Given the description of an element on the screen output the (x, y) to click on. 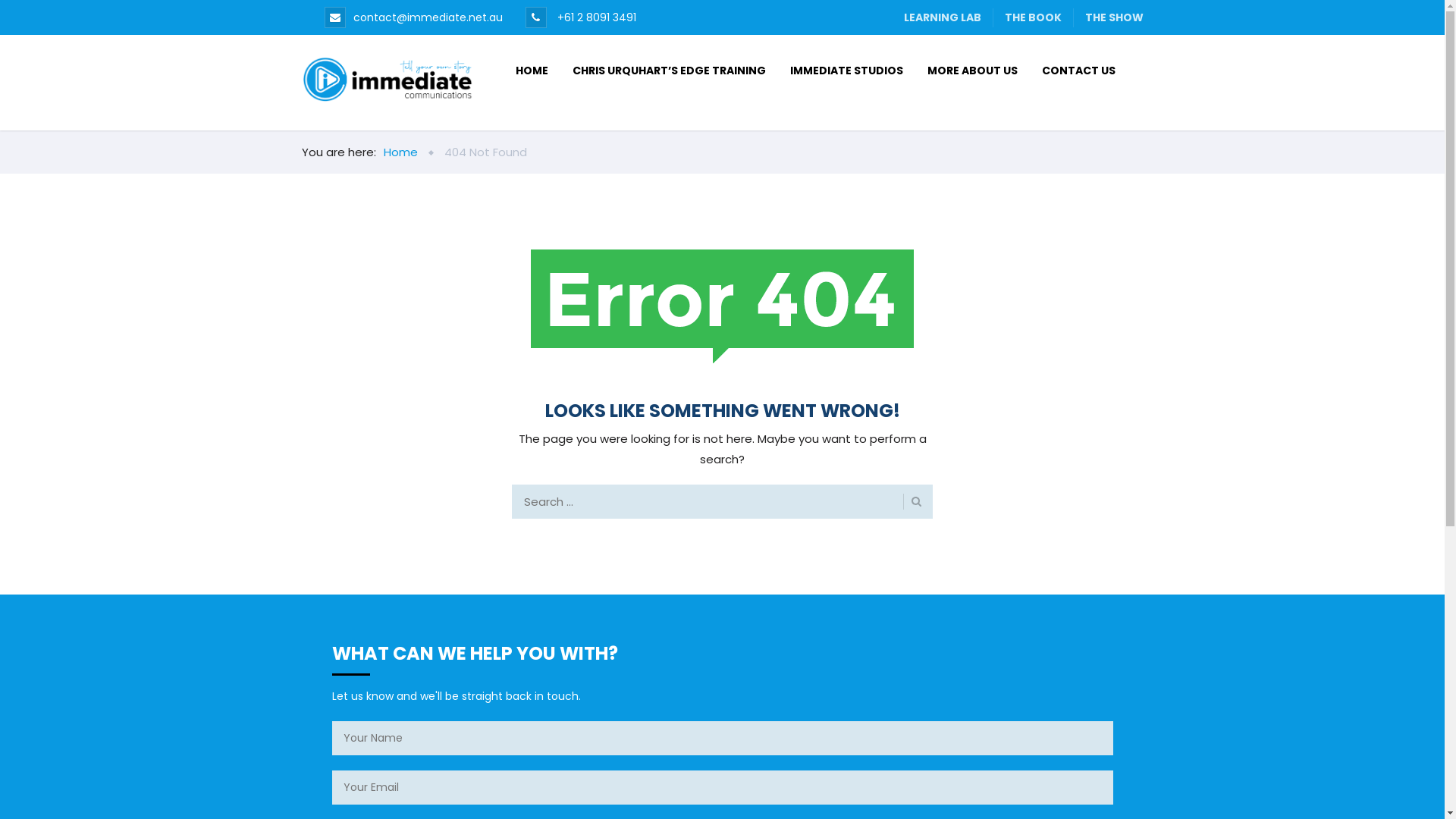
IMMEDIATE STUDIOS Element type: text (846, 71)
Home Element type: text (400, 152)
LEARNING LAB Element type: text (941, 17)
+61 2 8091 3491 Element type: text (594, 17)
contact@immediate.net.au Element type: text (427, 17)
MORE ABOUT US Element type: text (971, 71)
CONTACT US Element type: text (1078, 71)
THE BOOK Element type: text (1033, 17)
HOME Element type: text (531, 71)
THE SHOW Element type: text (1108, 17)
Search Element type: text (912, 501)
